Given the description of an element on the screen output the (x, y) to click on. 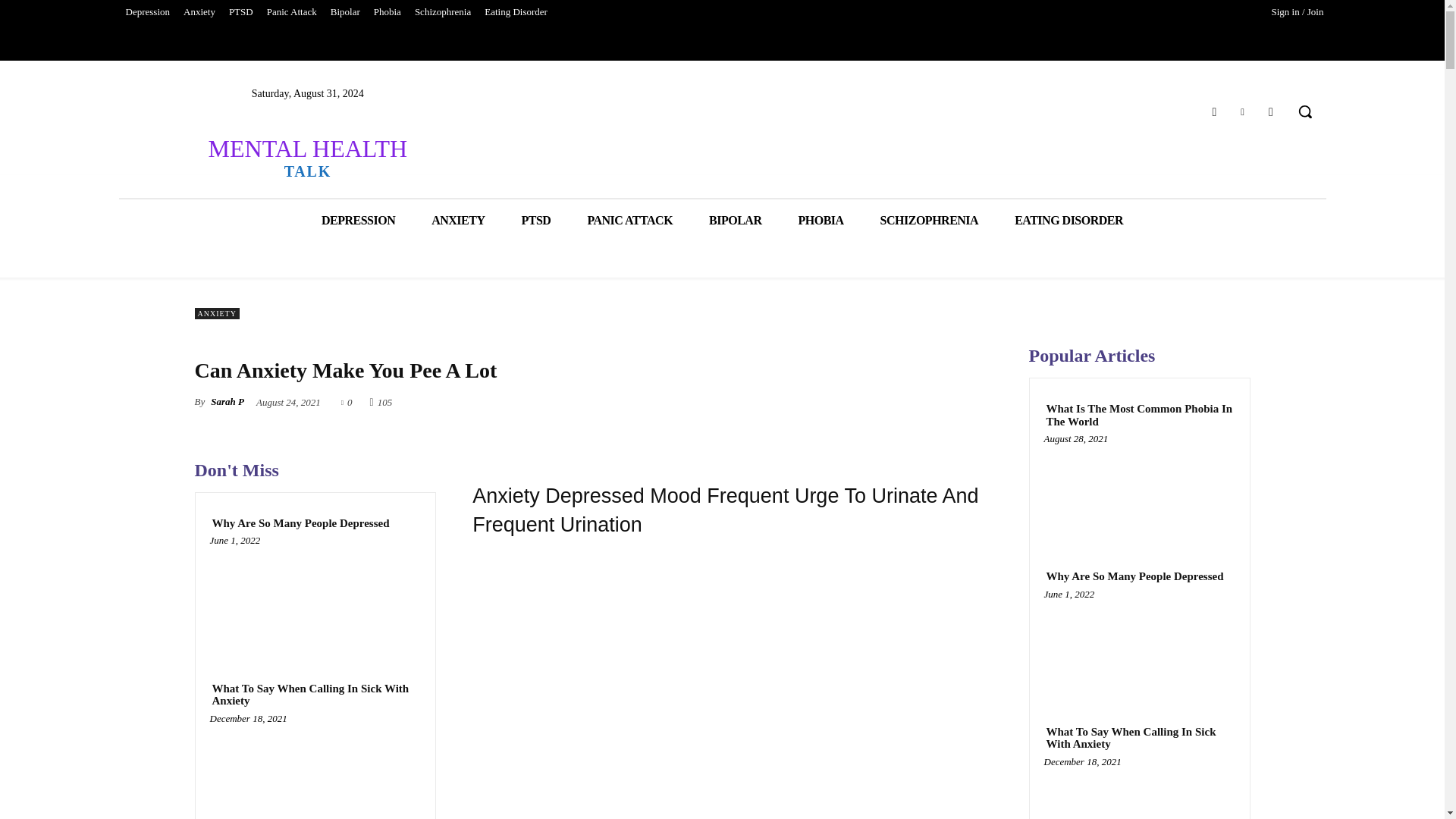
PTSD (241, 12)
Panic Attack (291, 12)
Depression (146, 12)
What To Say When Calling In Sick With Anxiety (314, 770)
PTSD (536, 219)
PANIC ATTACK (629, 219)
Bipolar (344, 12)
ANXIETY (457, 219)
Why Are So Many People Depressed (300, 522)
Schizophrenia (442, 12)
